Given the description of an element on the screen output the (x, y) to click on. 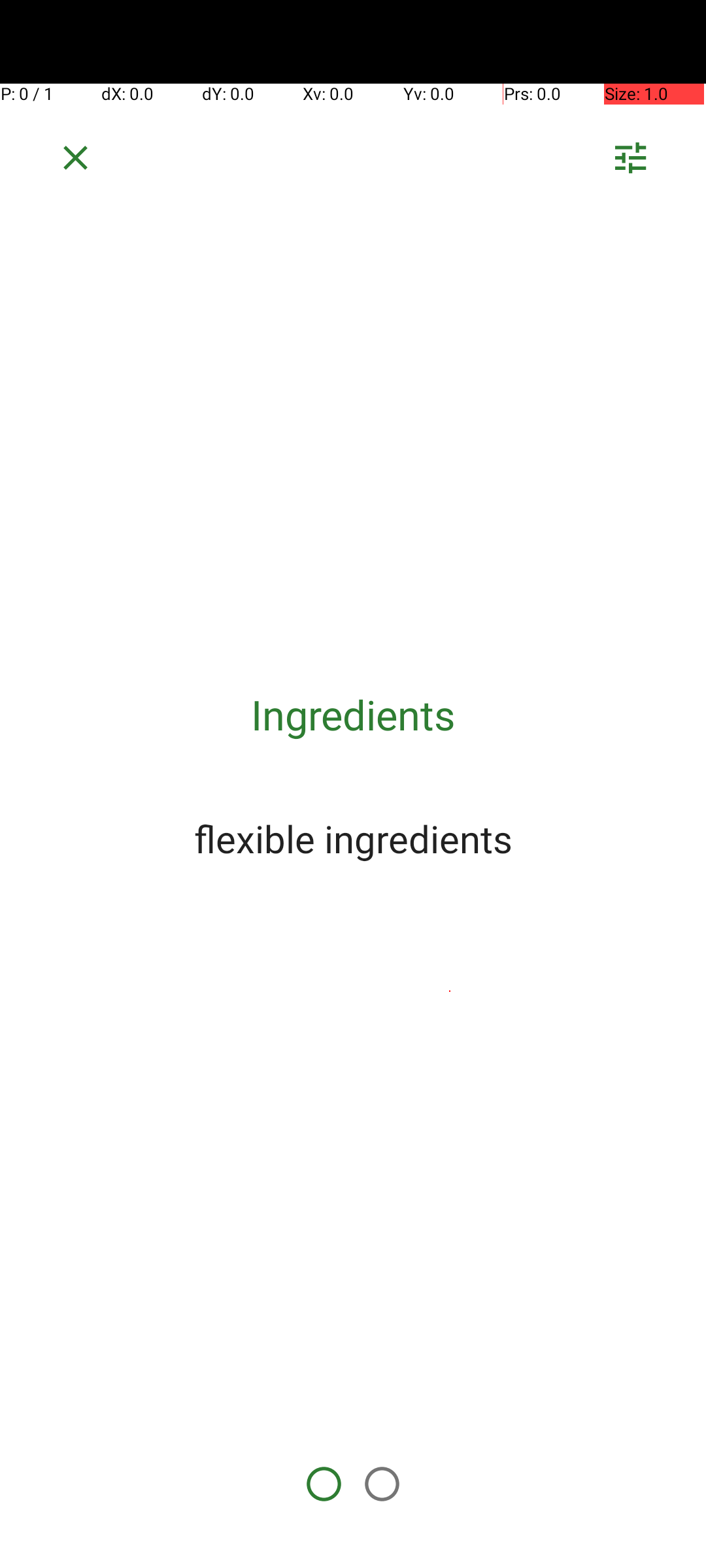
flexible ingredients Element type: android.widget.TextView (352, 838)
